Given the description of an element on the screen output the (x, y) to click on. 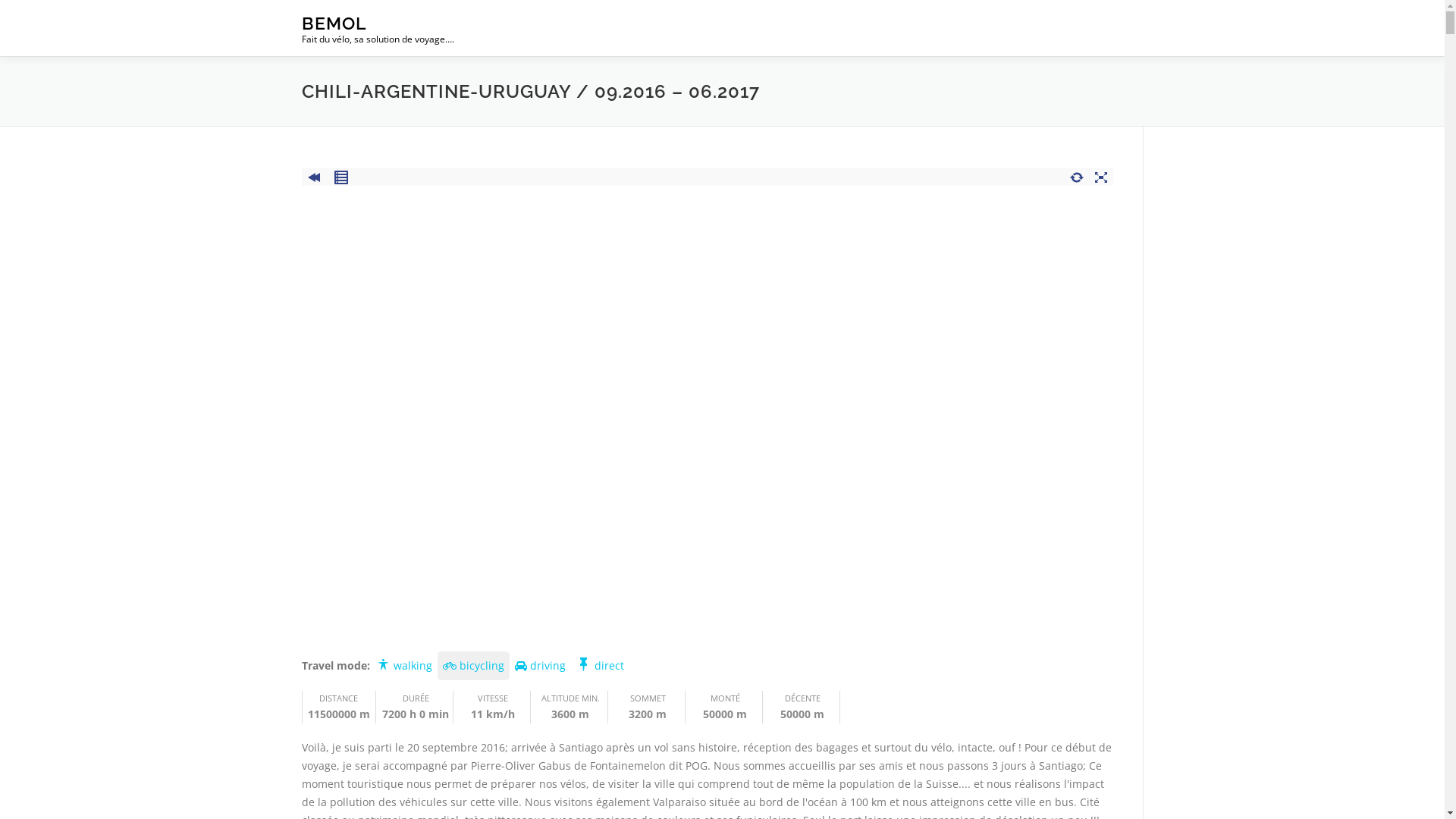
direct Element type: text (599, 665)
Reset map and show all locations Element type: hover (1076, 174)
Back Element type: hover (313, 174)
BEMOL Element type: text (333, 22)
bicycling Element type: text (472, 665)
walking Element type: text (403, 665)
Show directions steps Element type: hover (341, 174)
driving Element type: text (540, 665)
Fullscreen Element type: hover (1100, 174)
